Given the description of an element on the screen output the (x, y) to click on. 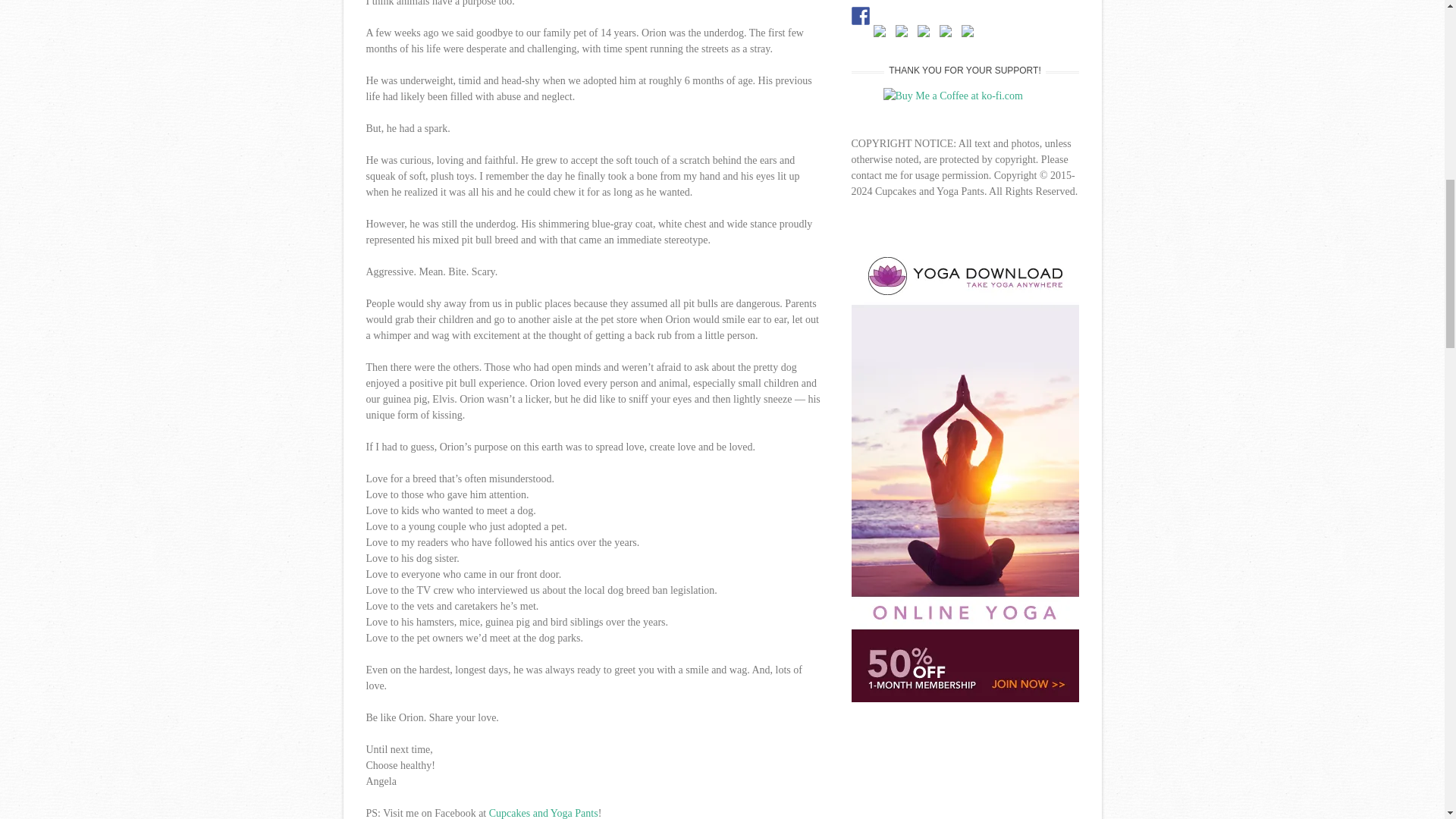
Cupcakes and Yoga Pants (543, 813)
